Given the description of an element on the screen output the (x, y) to click on. 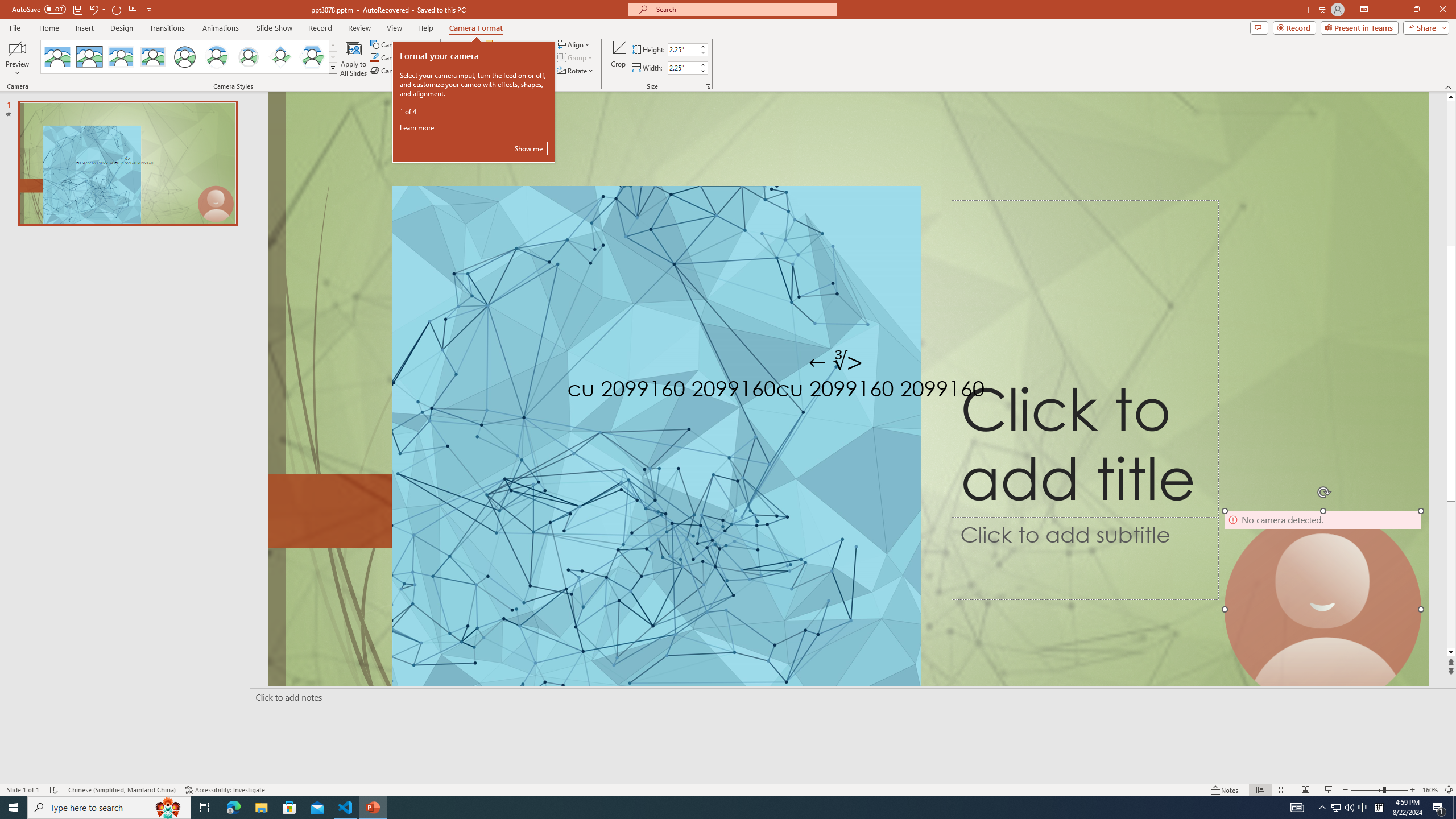
Center Shadow Hexagon (312, 56)
Center Shadow Rectangle (120, 56)
Cameo Width (682, 67)
